Given the description of an element on the screen output the (x, y) to click on. 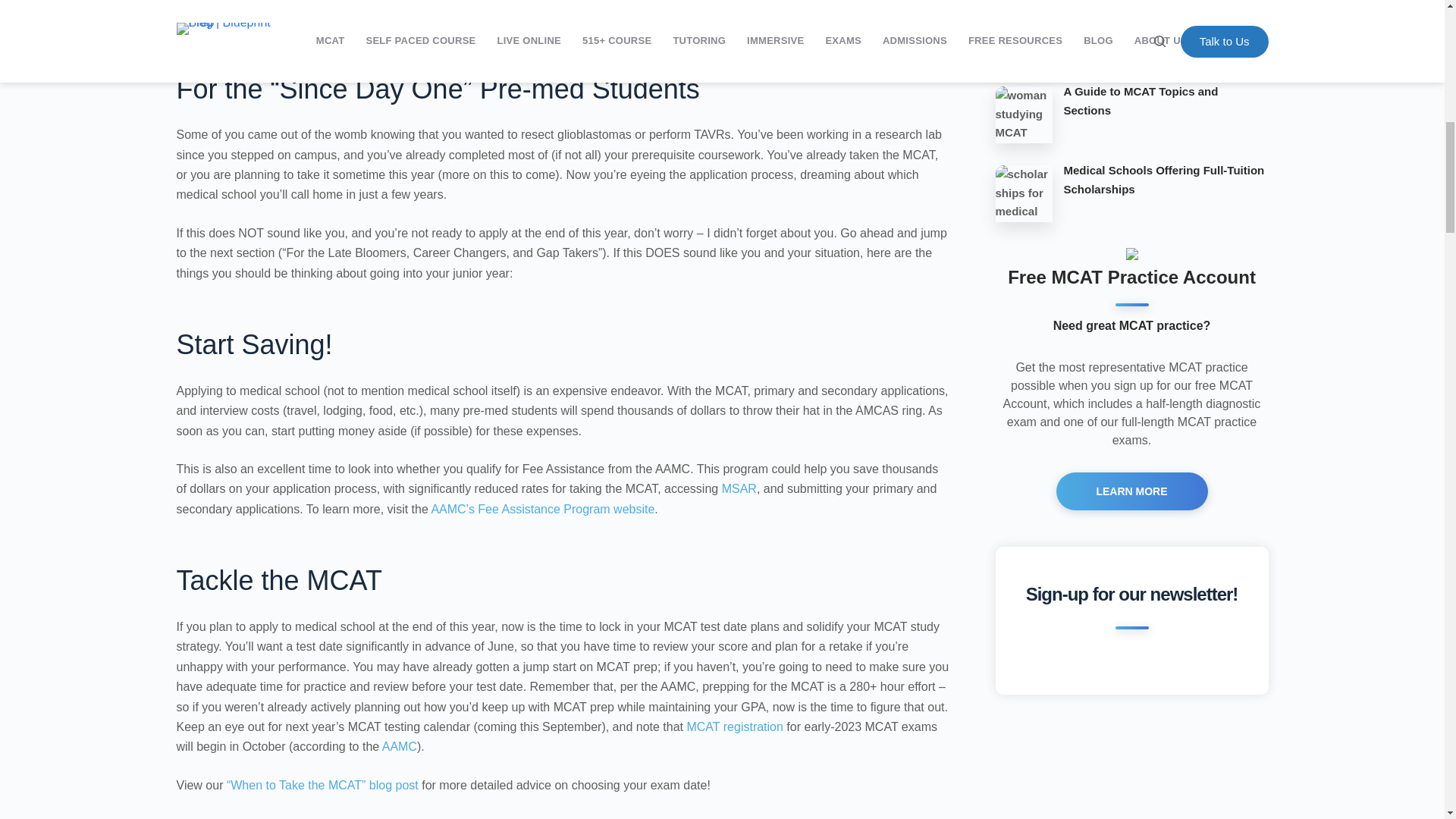
MCAT registration (734, 726)
MSAR (739, 488)
AAMC (398, 746)
